Given the description of an element on the screen output the (x, y) to click on. 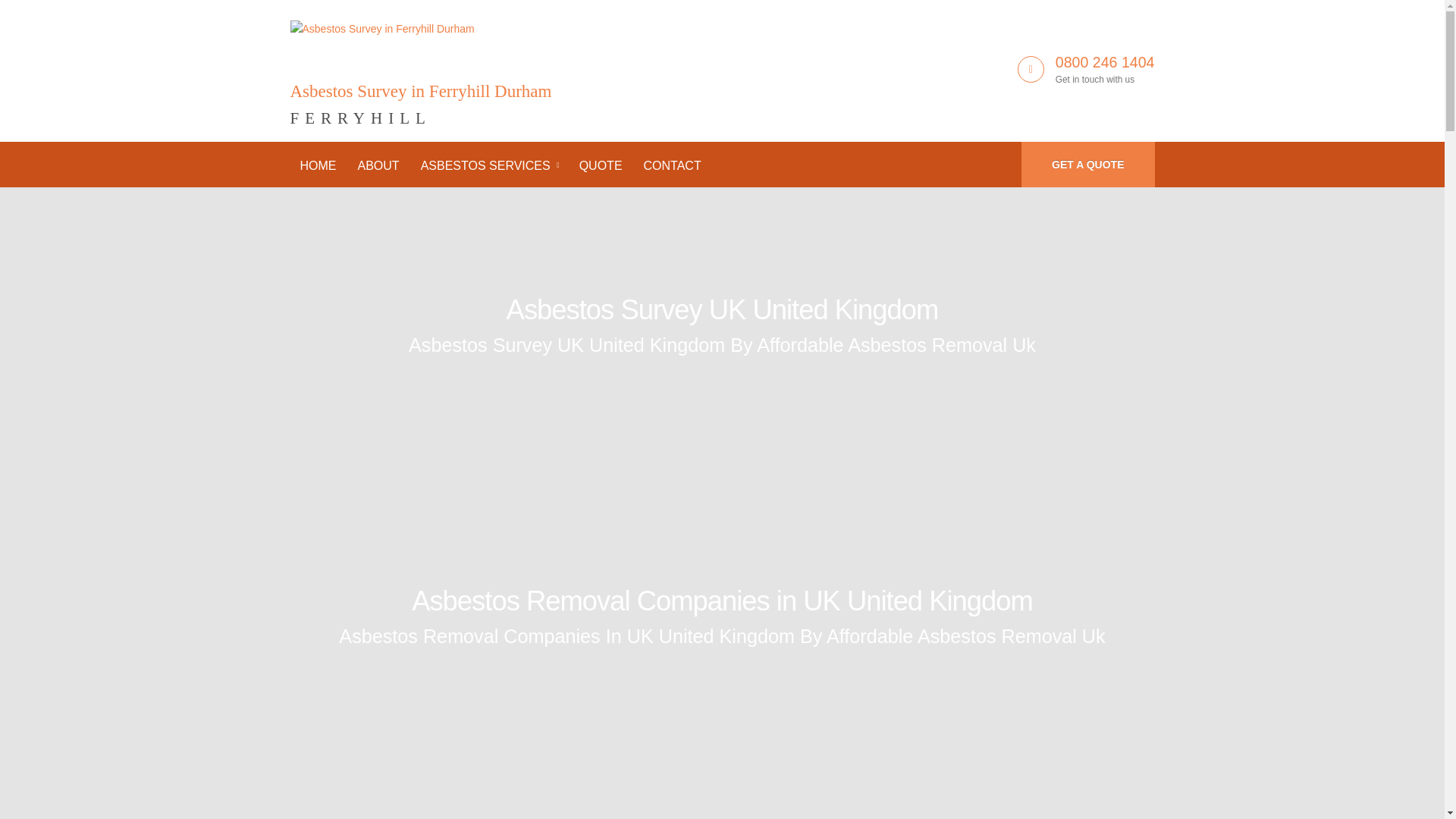
0800 246 1404 (1104, 62)
Asbestos Removal Companies in UK United Kingdom (722, 600)
ASBESTOS SERVICES (488, 165)
QUOTE (600, 165)
ABOUT (378, 165)
Asbestos Survey UK United Kingdom (722, 309)
CONTACT (672, 165)
GET A QUOTE (1088, 164)
HOME (420, 65)
